Given the description of an element on the screen output the (x, y) to click on. 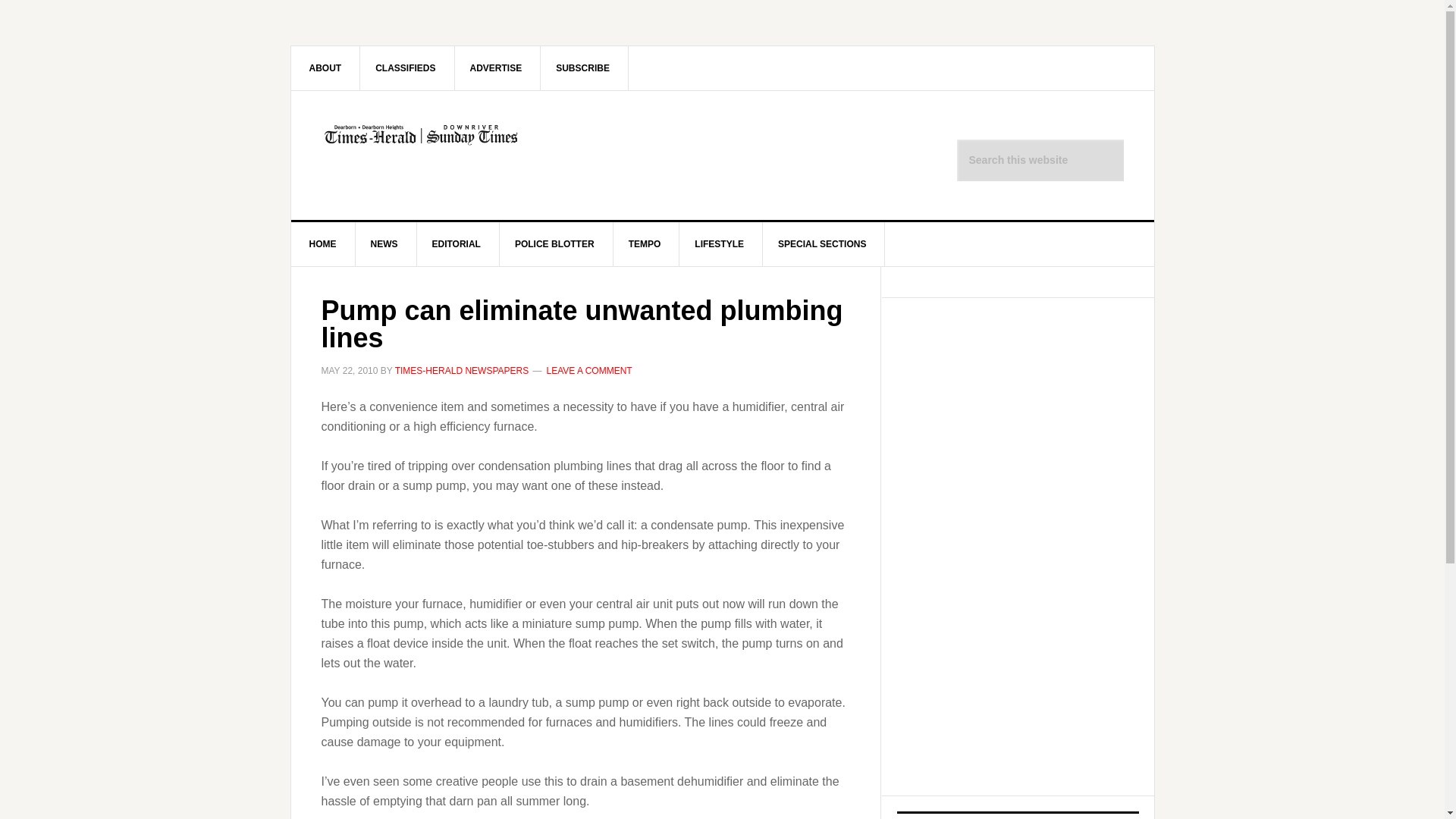
TIMES-HERALD AND SUNDAY TIMES NEWSPAPERS (419, 155)
SUBSCRIBE (582, 67)
LEAVE A COMMENT (589, 370)
TIMES-HERALD NEWSPAPERS (461, 370)
CLASSIFIEDS (405, 67)
LIFESTYLE (719, 243)
HOME (323, 243)
SPECIAL SECTIONS (822, 243)
ADVERTISE (496, 67)
TEMPO (644, 243)
POLICE BLOTTER (554, 243)
EDITORIAL (456, 243)
ABOUT (326, 67)
